Given the description of an element on the screen output the (x, y) to click on. 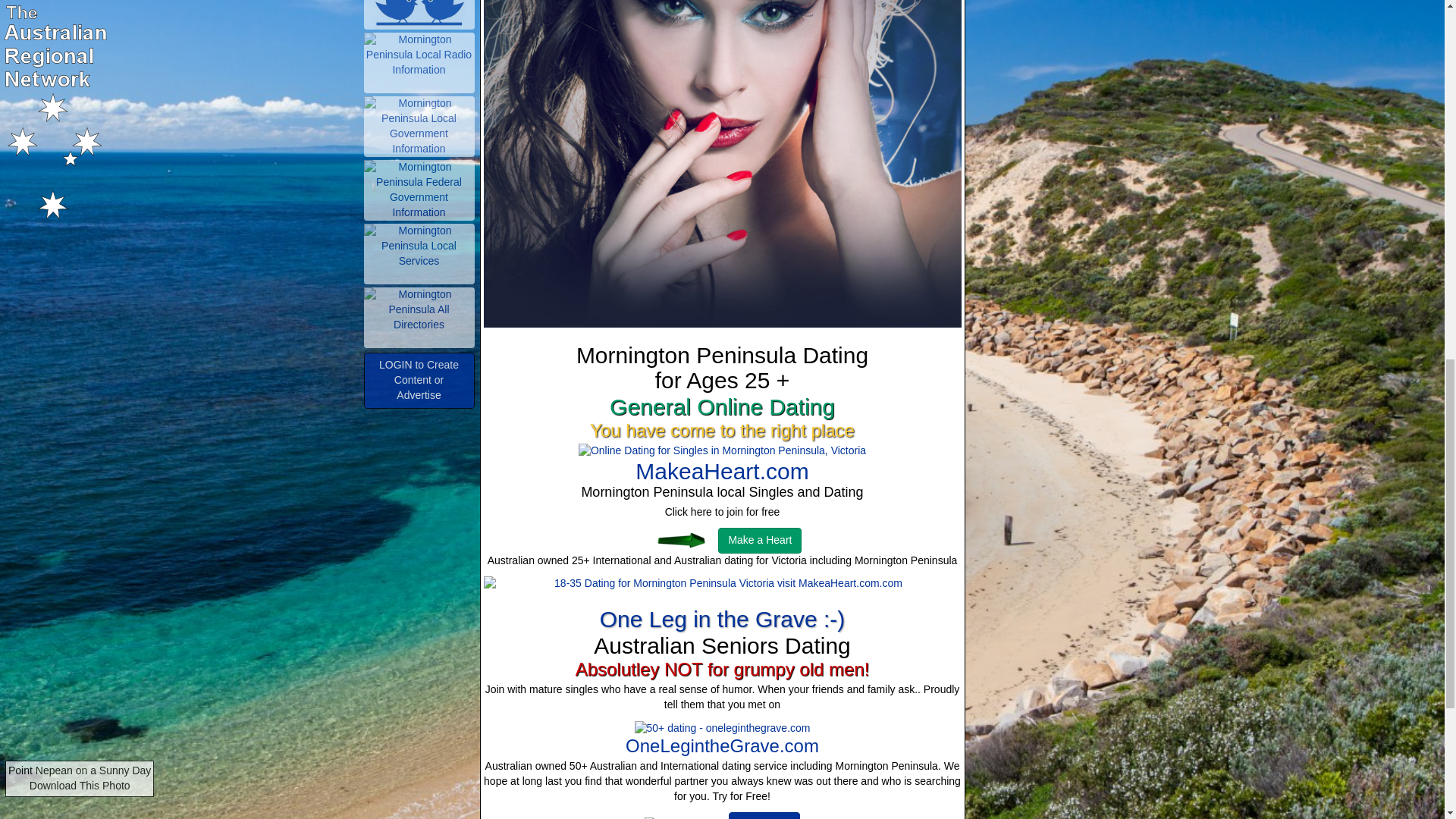
Seniors Dating (685, 818)
Online Dating for Singles in Mornington Peninsula, Victoria (722, 450)
Dating (679, 540)
